Given the description of an element on the screen output the (x, y) to click on. 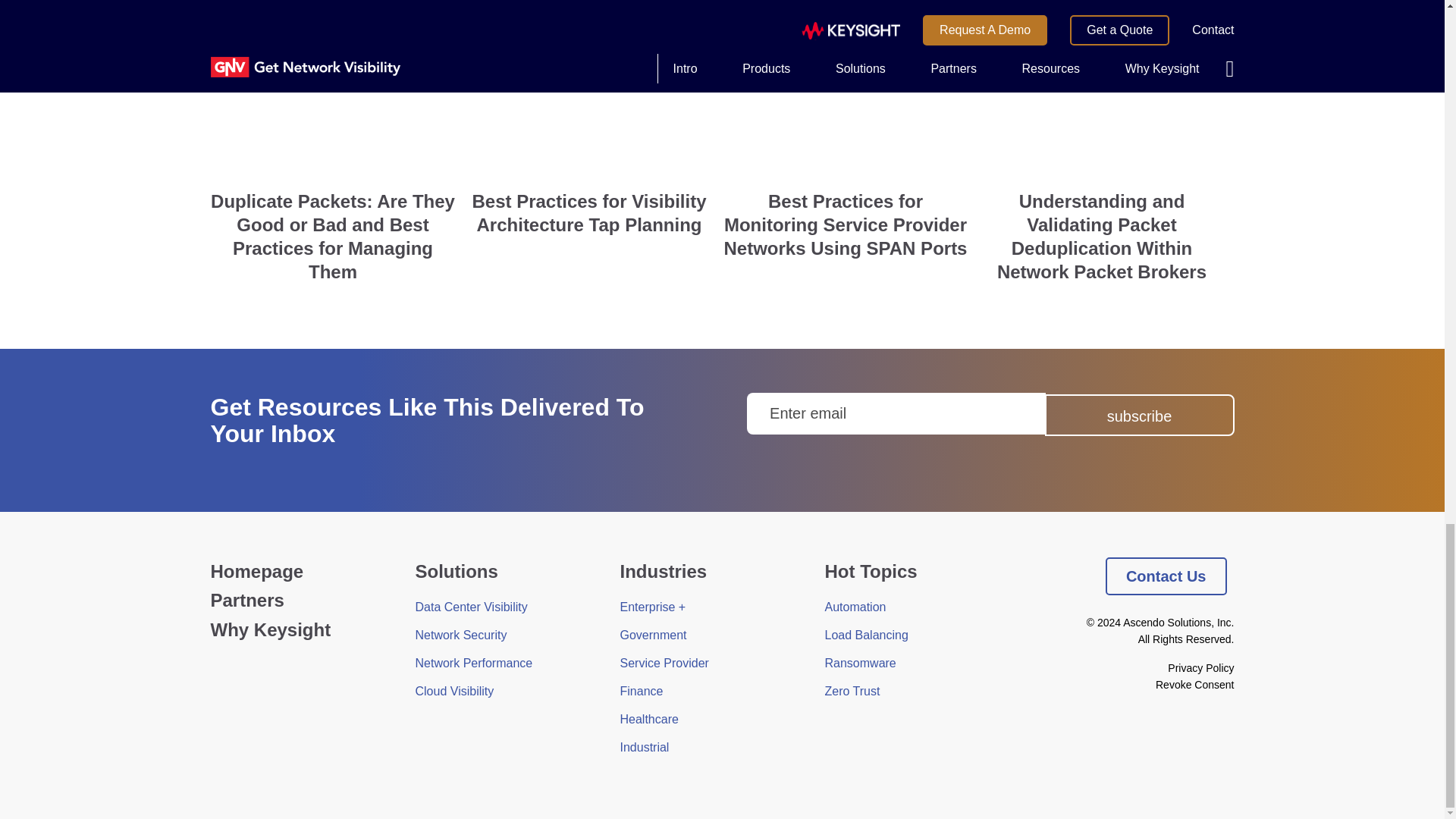
subscribe (1139, 414)
Homepage (257, 571)
Best Practices for Visibility Architecture Tap Planning (589, 128)
